Given the description of an element on the screen output the (x, y) to click on. 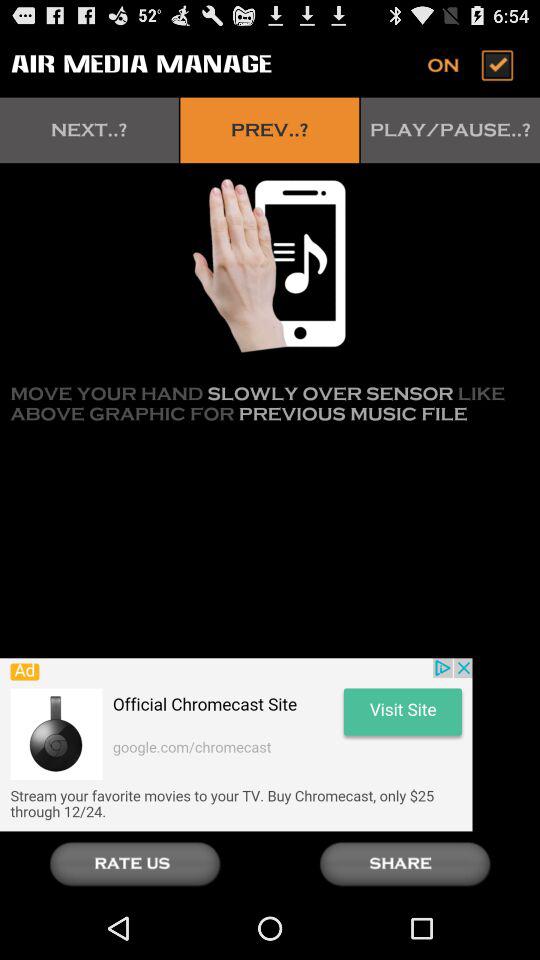
share current media file (405, 863)
